Given the description of an element on the screen output the (x, y) to click on. 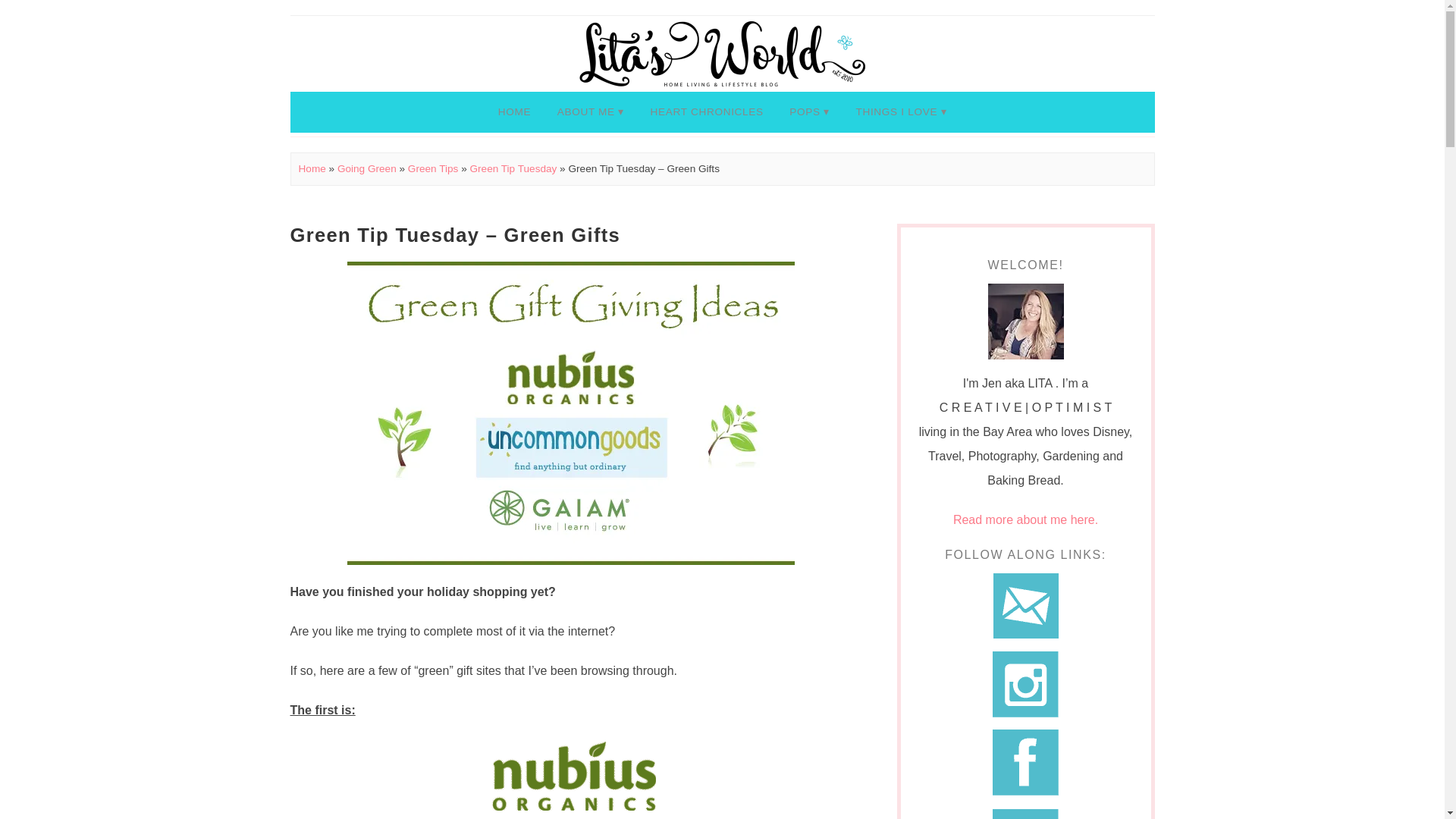
HEART CHRONICLES (706, 111)
Lita's World (722, 53)
Going Green (366, 168)
HOME (514, 111)
POPS (809, 111)
THINGS I LOVE (901, 111)
ABOUT ME (590, 111)
Green Tip Tuesday (512, 168)
Home (312, 168)
